Given the description of an element on the screen output the (x, y) to click on. 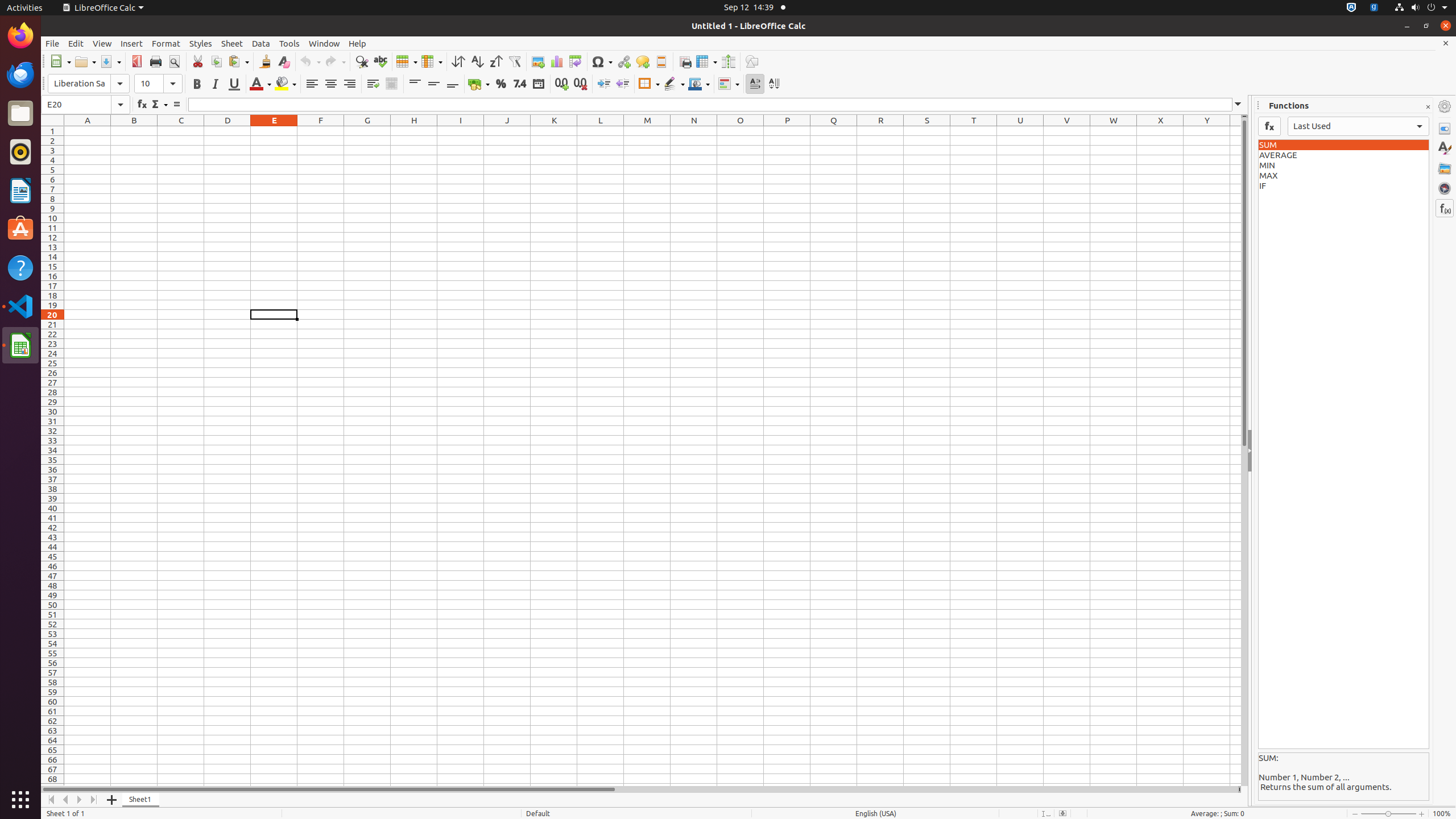
T1 Element type: table-cell (973, 130)
U1 Element type: table-cell (1020, 130)
Functions Element type: radio-button (1444, 208)
G1 Element type: table-cell (367, 130)
PDF Element type: push-button (136, 61)
